Given the description of an element on the screen output the (x, y) to click on. 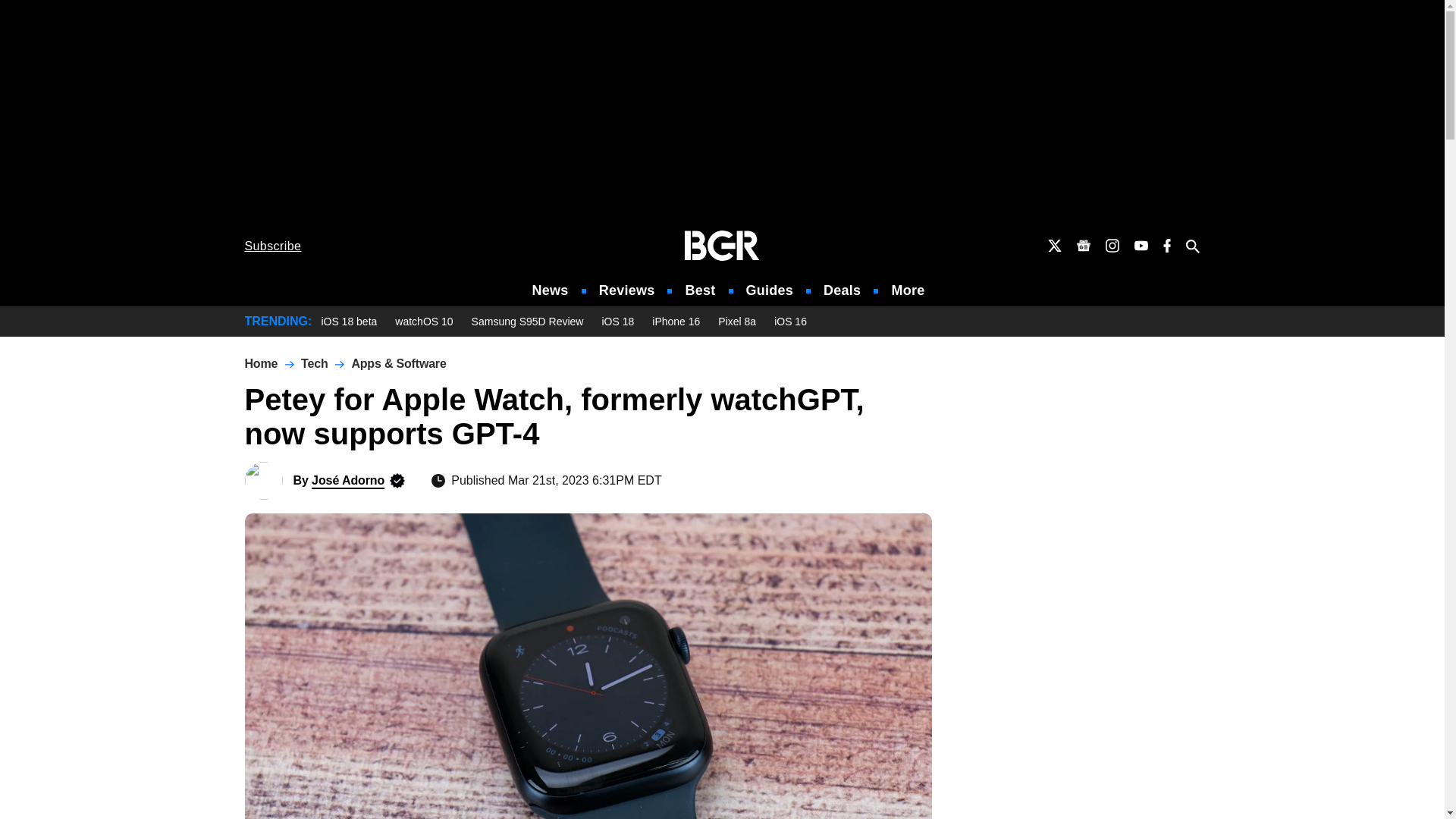
Guides (769, 290)
News (550, 290)
Reviews (626, 290)
Deals (842, 290)
Best (699, 290)
More (907, 290)
Subscribe (272, 245)
